Given the description of an element on the screen output the (x, y) to click on. 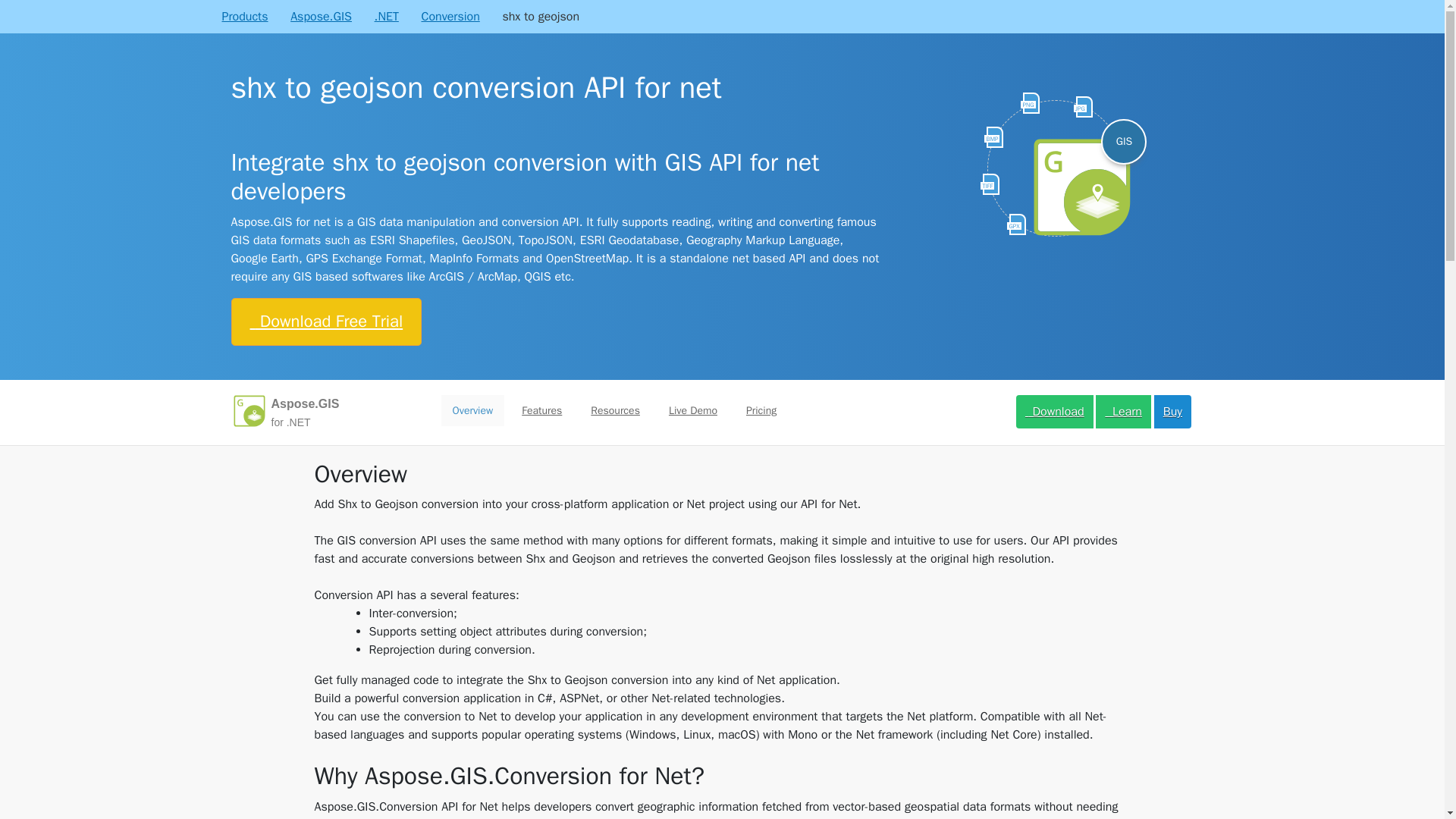
Overview (473, 409)
  Download Free Trial (326, 321)
Pricing (761, 409)
Features (542, 409)
Live Demo (693, 409)
Products (244, 16)
Resources (614, 409)
Conversion (449, 16)
.NET (386, 16)
Aspose.GIS (320, 16)
